Given the description of an element on the screen output the (x, y) to click on. 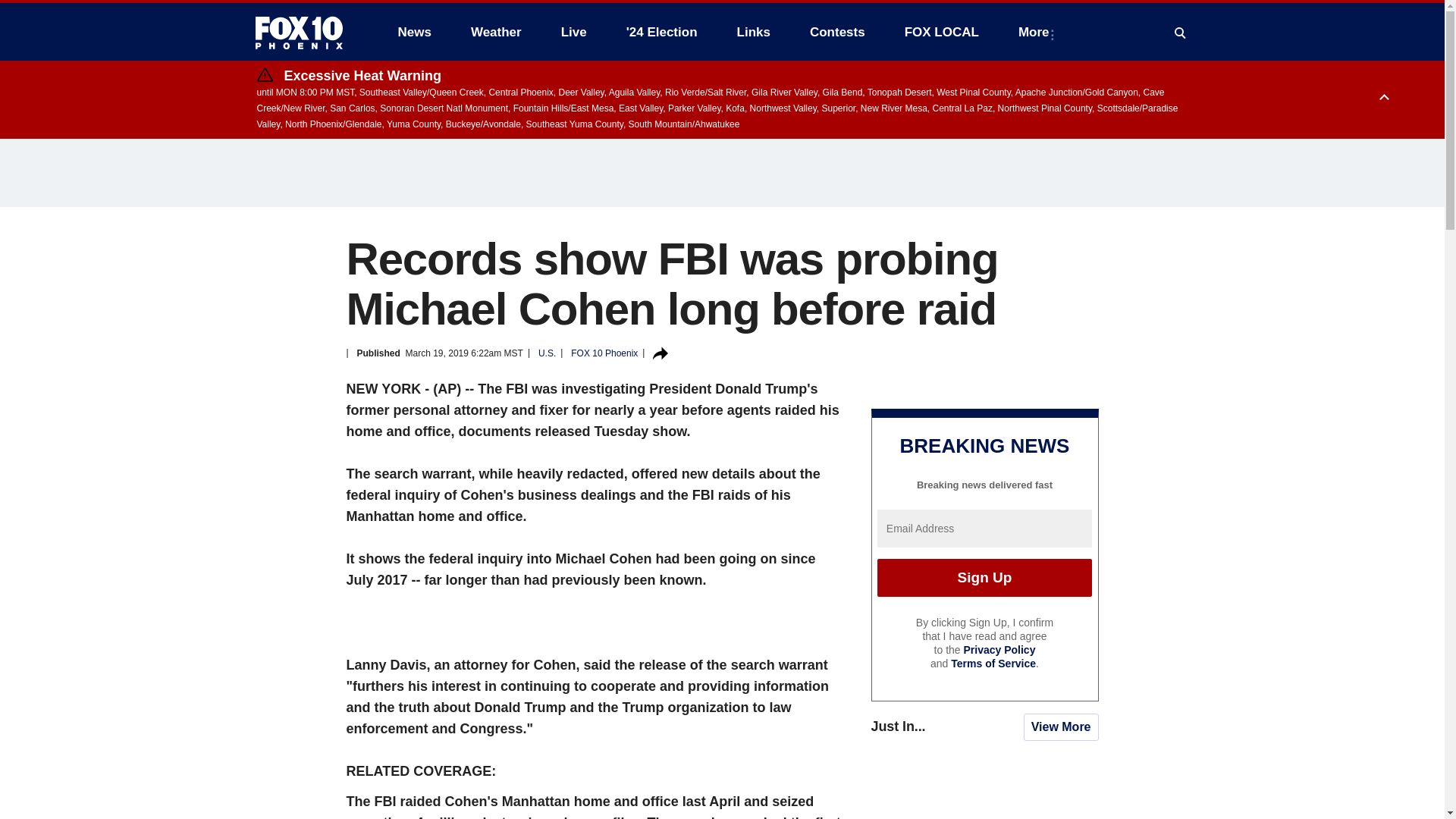
FOX LOCAL (941, 32)
More (1036, 32)
'24 Election (662, 32)
Links (754, 32)
News (413, 32)
Weather (496, 32)
Contests (837, 32)
Live (573, 32)
Sign Up (984, 577)
